Given the description of an element on the screen output the (x, y) to click on. 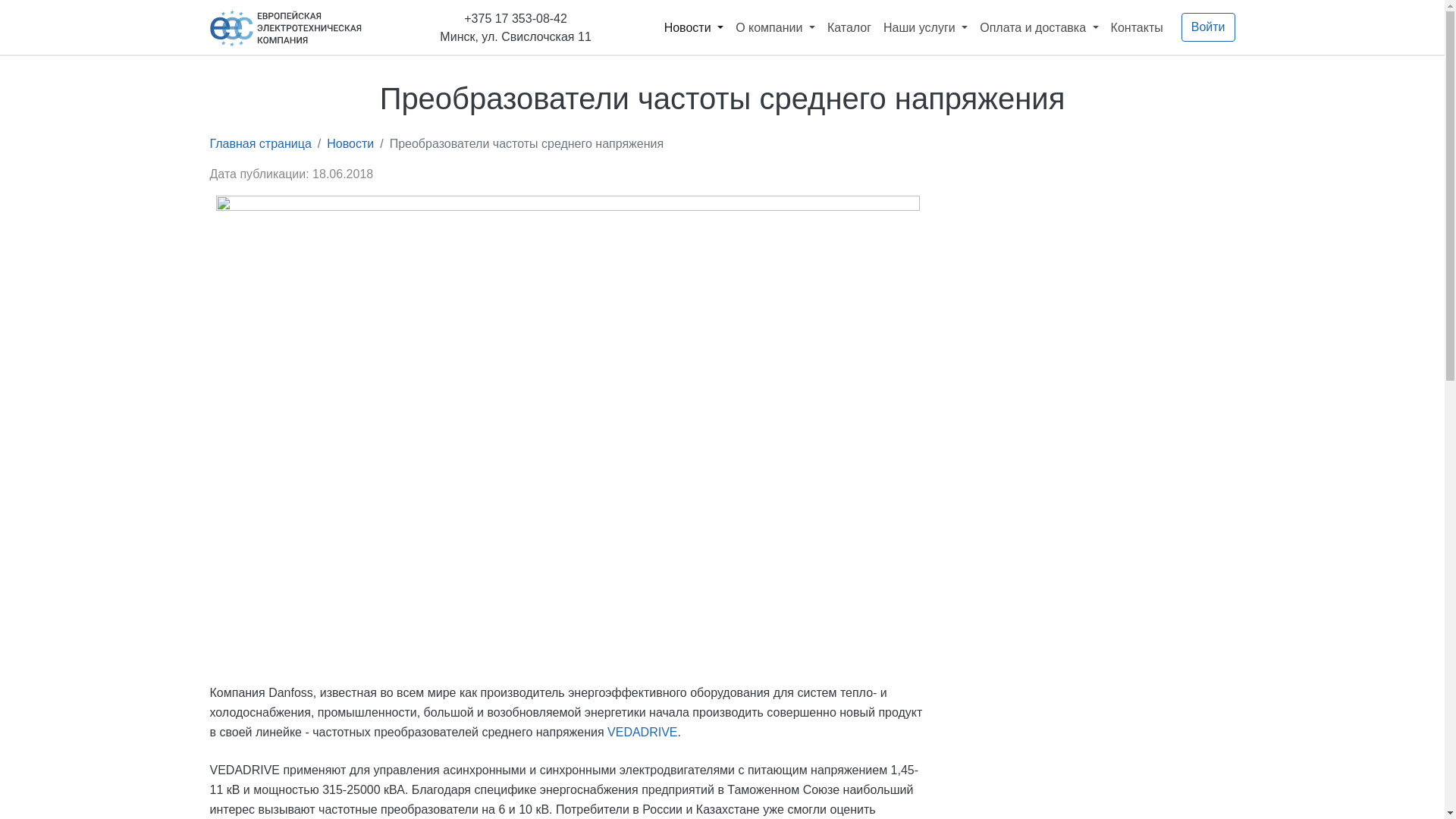
VEDADRIVE Element type: text (642, 731)
